Given the description of an element on the screen output the (x, y) to click on. 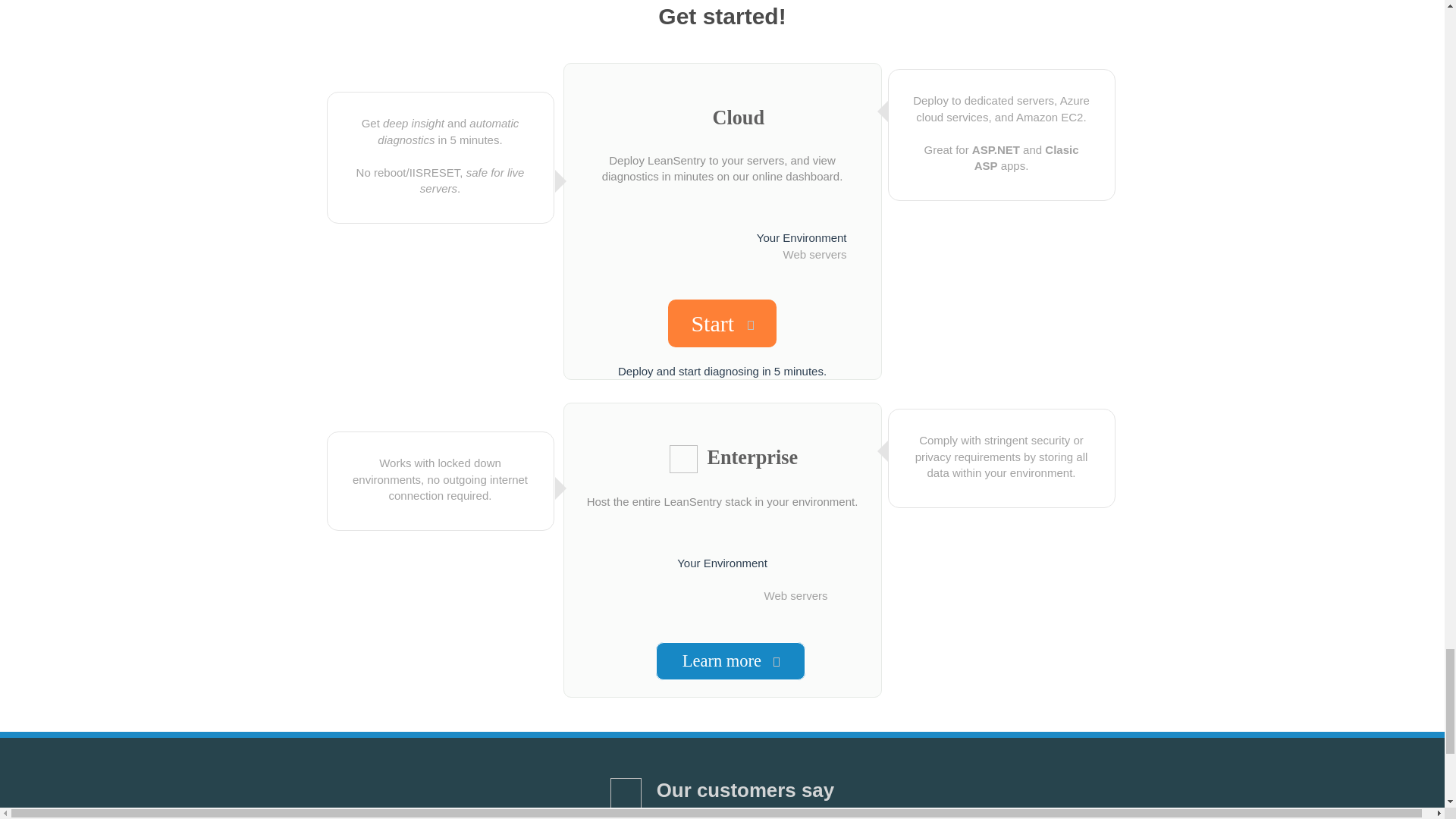
Start (722, 323)
Learn more (730, 661)
